Given the description of an element on the screen output the (x, y) to click on. 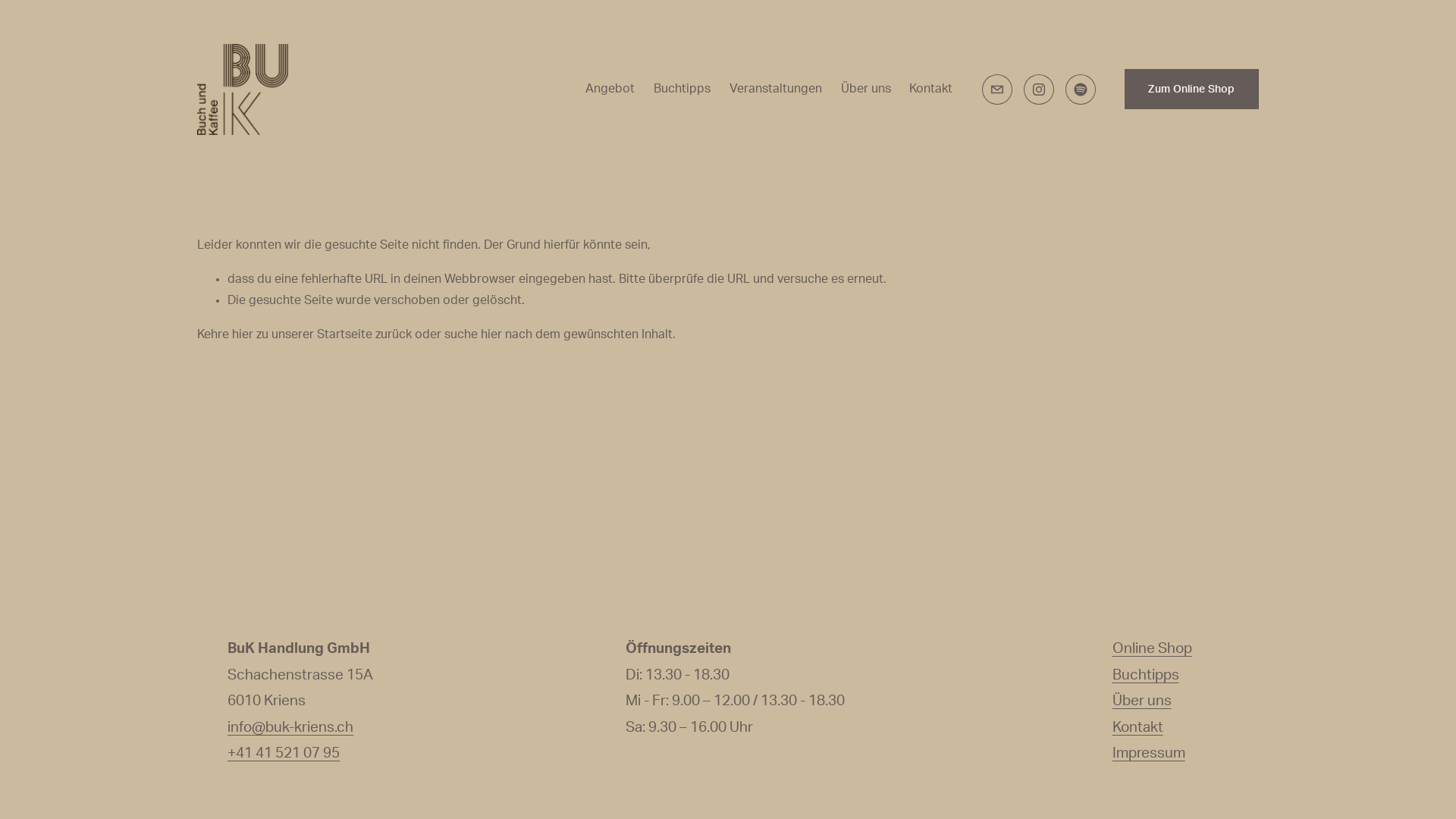
Impressum Element type: text (1148, 753)
Online Shop Element type: text (1152, 649)
info@buk-kriens.ch Element type: text (290, 728)
+41 41 521 07 95 Element type: text (283, 753)
Buchtipps Element type: text (681, 89)
Buchtipps Element type: text (1145, 675)
hier Element type: text (242, 334)
Angebot Element type: text (609, 89)
Veranstaltungen Element type: text (775, 89)
hier Element type: text (491, 334)
Kontakt Element type: text (1137, 728)
Kontakt Element type: text (930, 89)
Zum Online Shop Element type: text (1191, 88)
